Given the description of an element on the screen output the (x, y) to click on. 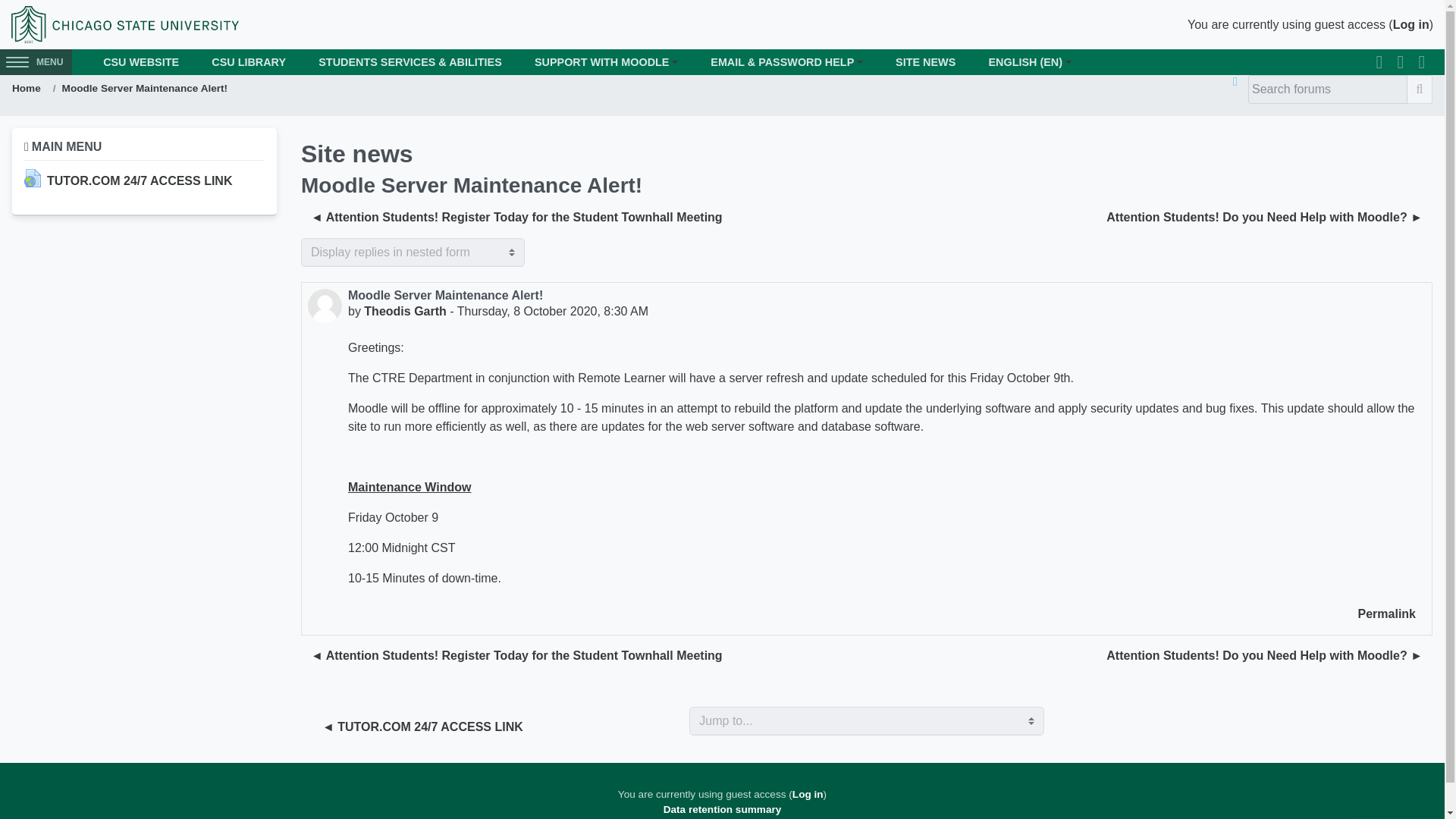
Search forums (1419, 89)
facebook (1379, 62)
Picture of Theodis Garth (324, 305)
CSU WEBSITE (141, 62)
twitter (1400, 62)
Language (1029, 62)
SUPPORT WITH MOODLE (606, 62)
Home (25, 88)
Permalink (1386, 613)
instagram (1421, 62)
